Given the description of an element on the screen output the (x, y) to click on. 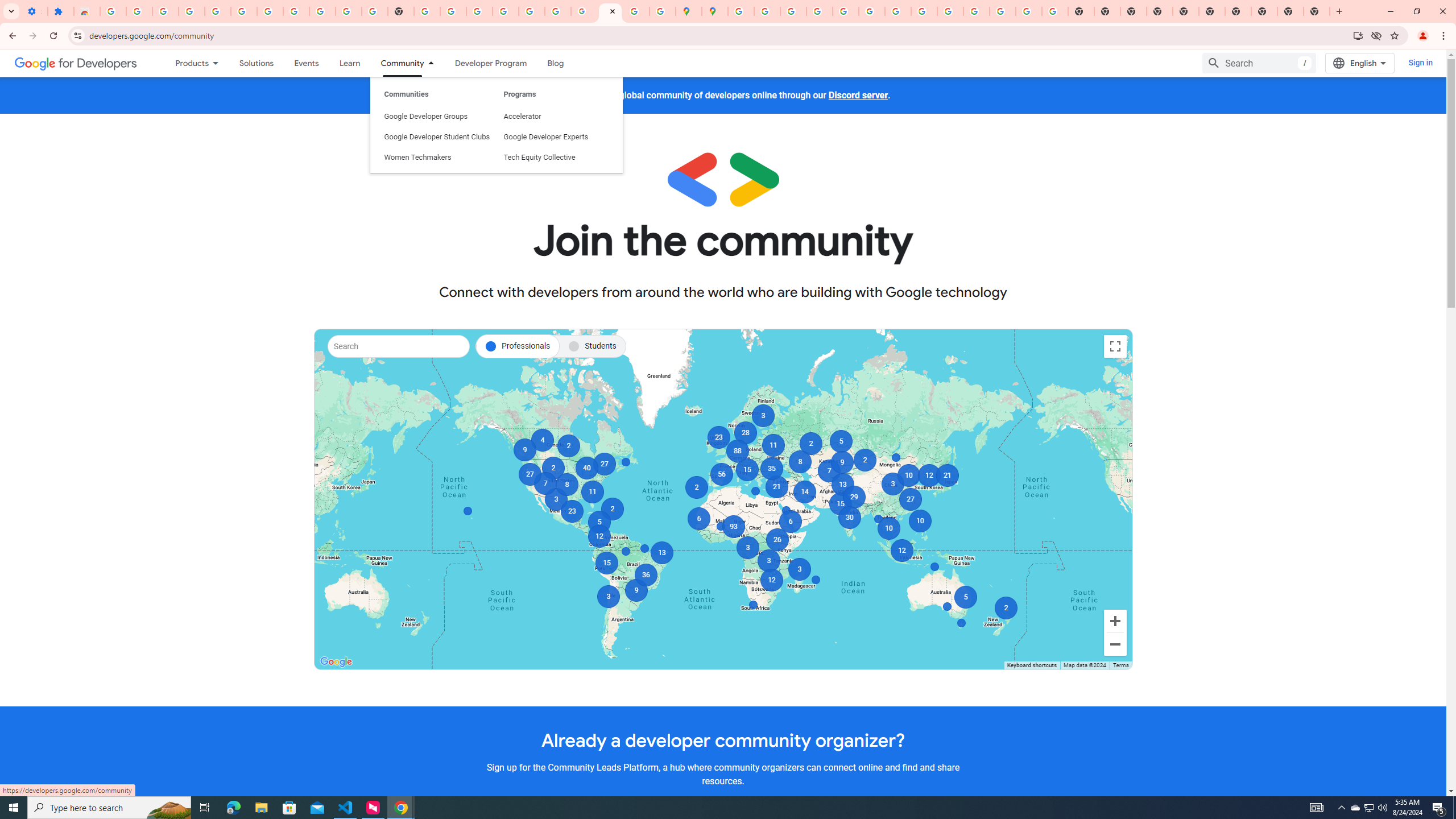
7 (544, 482)
Tech Equity Collective (556, 104)
Google Developer Experts (556, 84)
23 (571, 510)
Products (186, 62)
Zoom in (1114, 620)
